Given the description of an element on the screen output the (x, y) to click on. 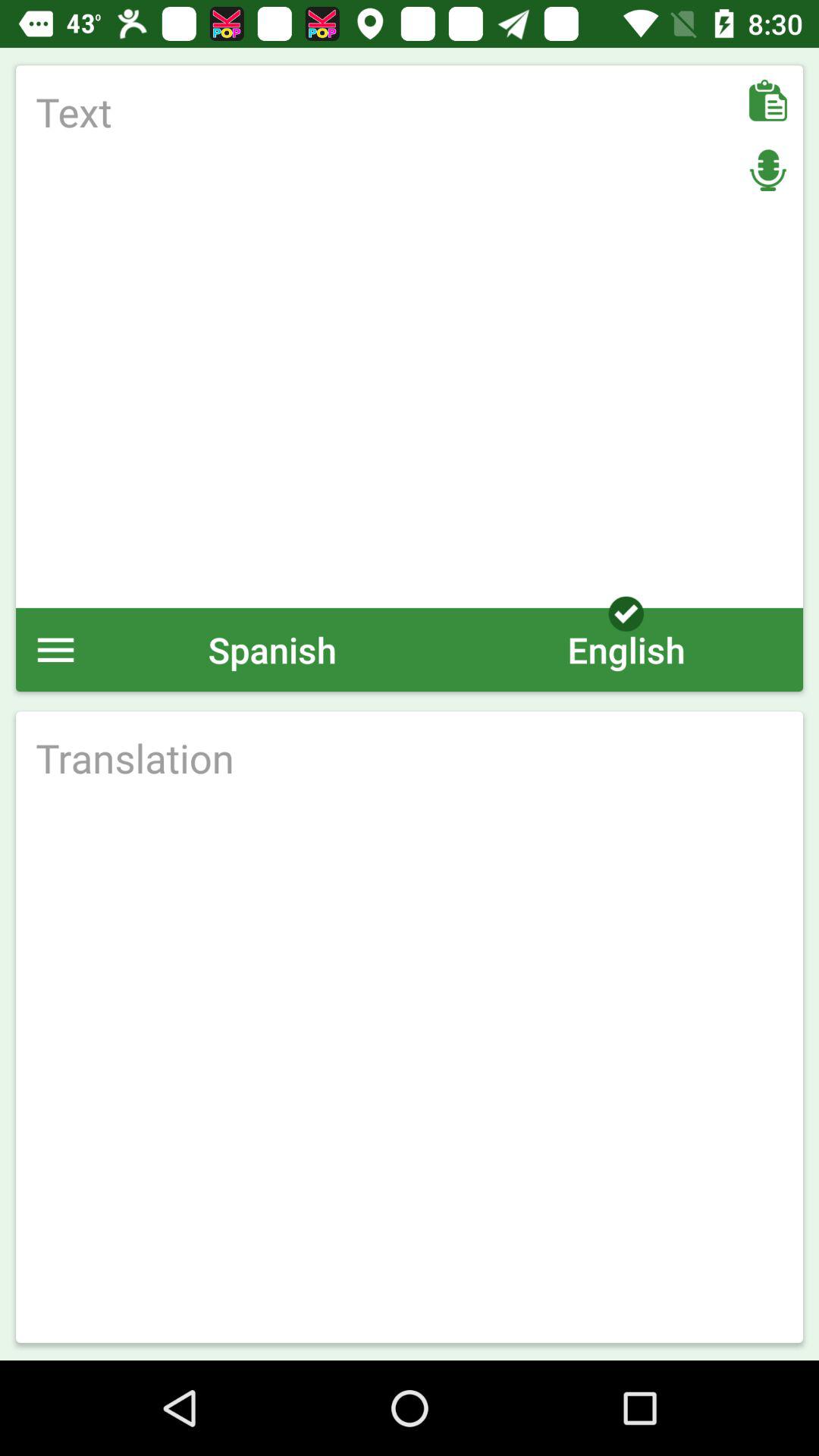
select icon next to spanish icon (626, 649)
